Given the description of an element on the screen output the (x, y) to click on. 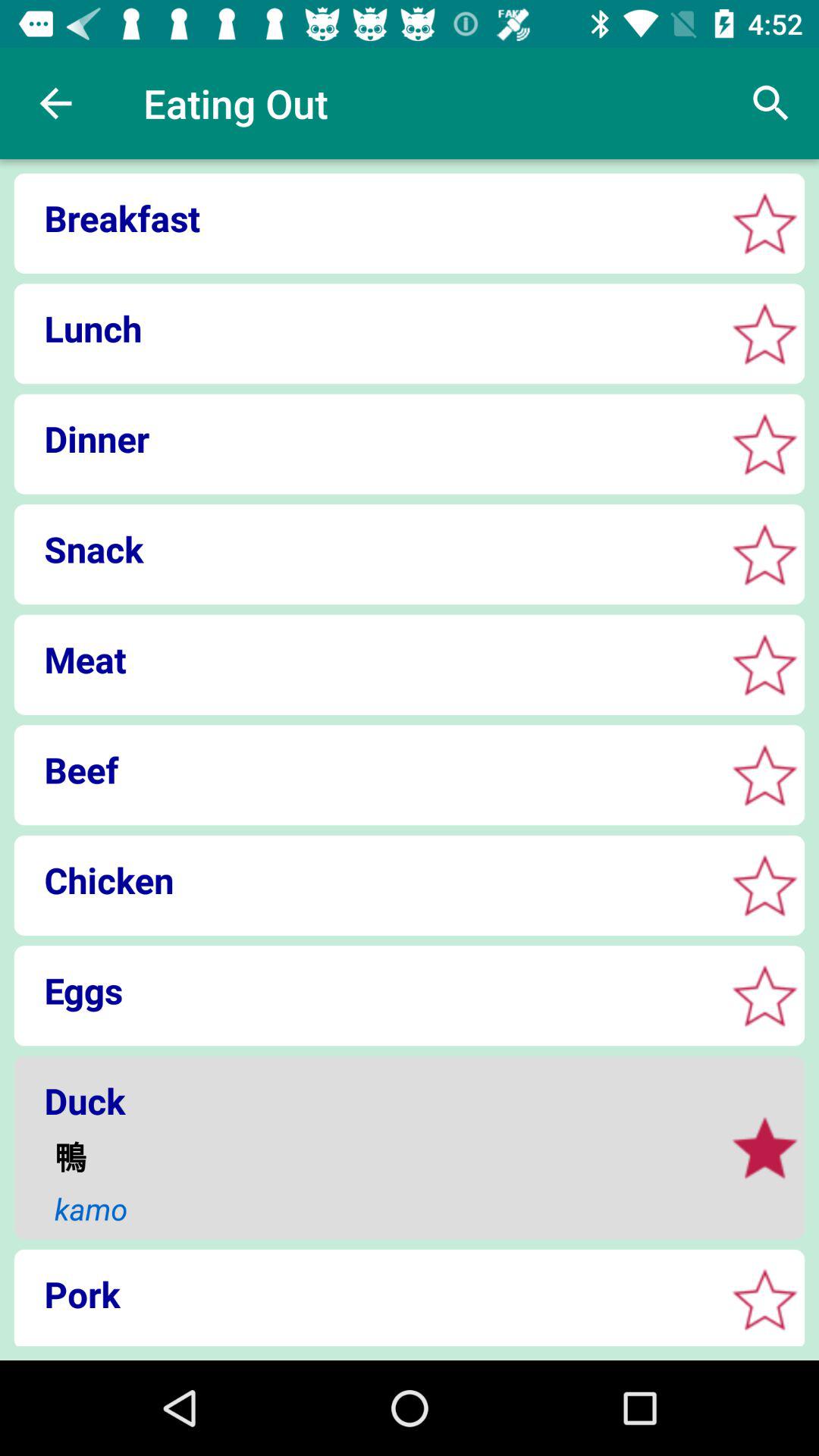
rate the star (764, 775)
